Given the description of an element on the screen output the (x, y) to click on. 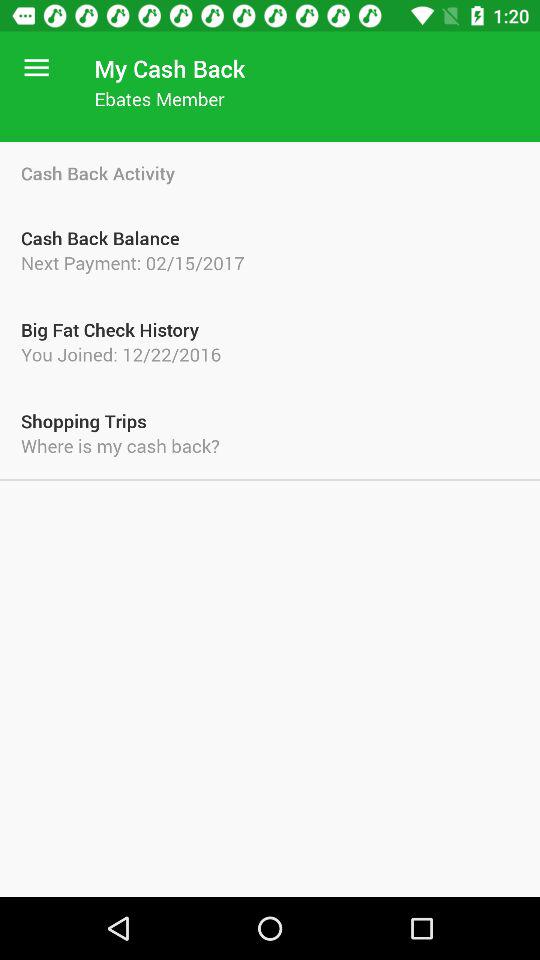
launch item below the where is my icon (270, 479)
